Given the description of an element on the screen output the (x, y) to click on. 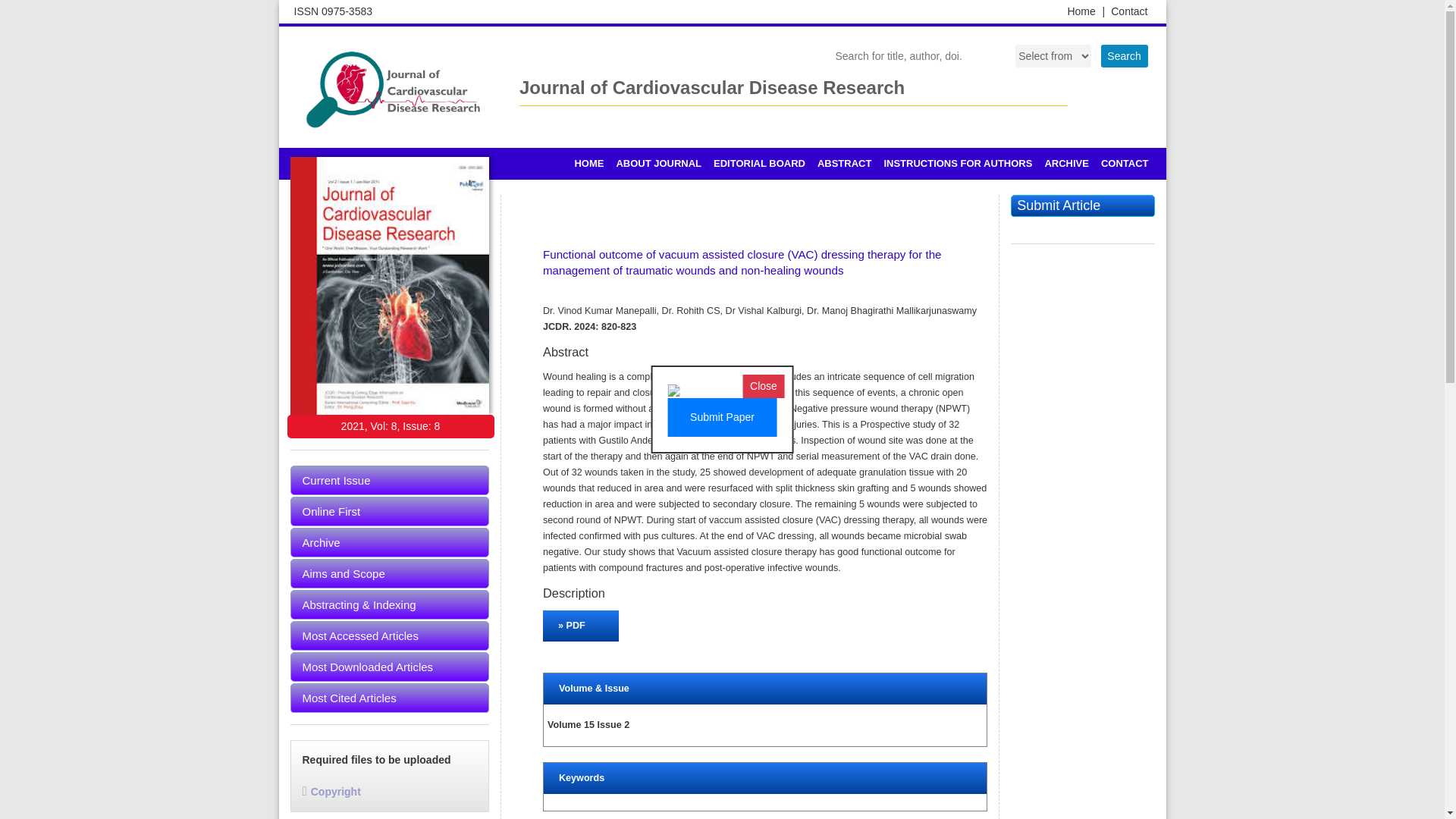
Copyright (330, 791)
Search (1124, 56)
ABOUT JOURNAL (658, 163)
Search (1124, 56)
Aims and Scope (389, 573)
Most Accessed Articles (389, 635)
Archive (389, 542)
Online First (389, 511)
ABSTRACT (843, 163)
EDITORIAL BOARD (758, 163)
Most Downloaded Articles (389, 666)
CONTACT (1124, 163)
Most Cited Articles (389, 697)
INSTRUCTIONS FOR AUTHORS (957, 163)
ARCHIVE (1066, 163)
